Given the description of an element on the screen output the (x, y) to click on. 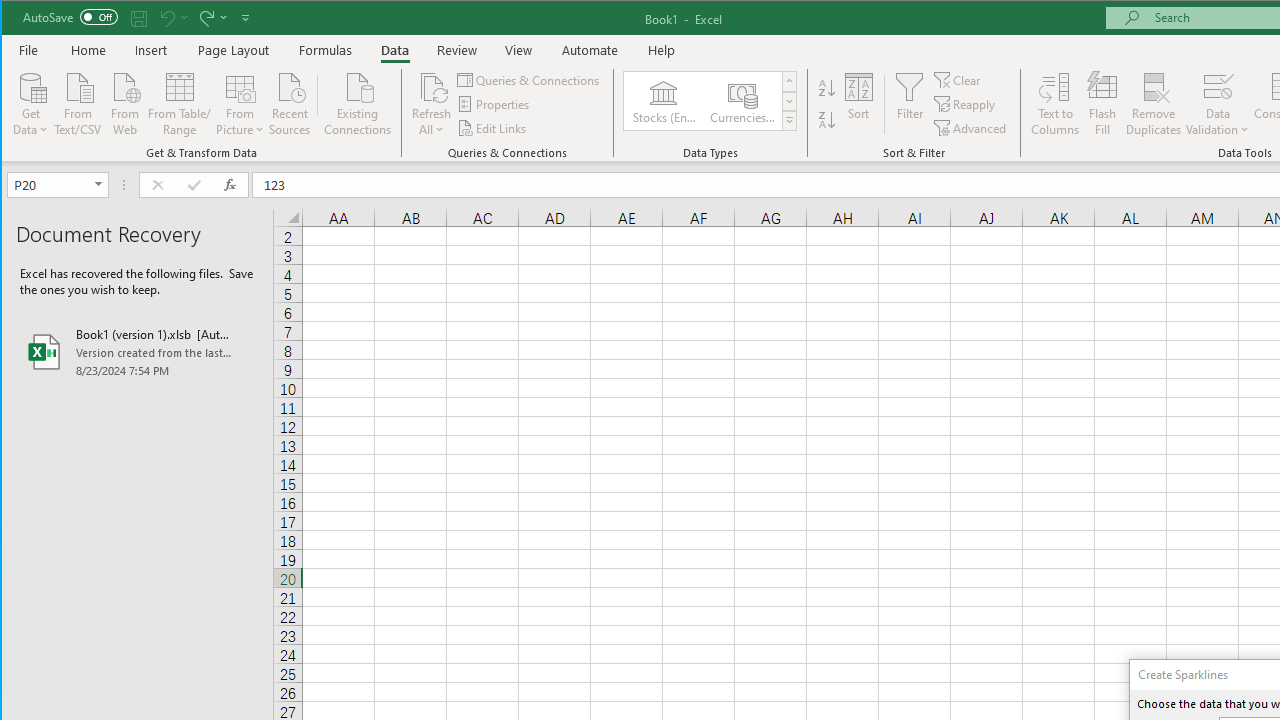
Sort Smallest to Largest (827, 88)
